Given the description of an element on the screen output the (x, y) to click on. 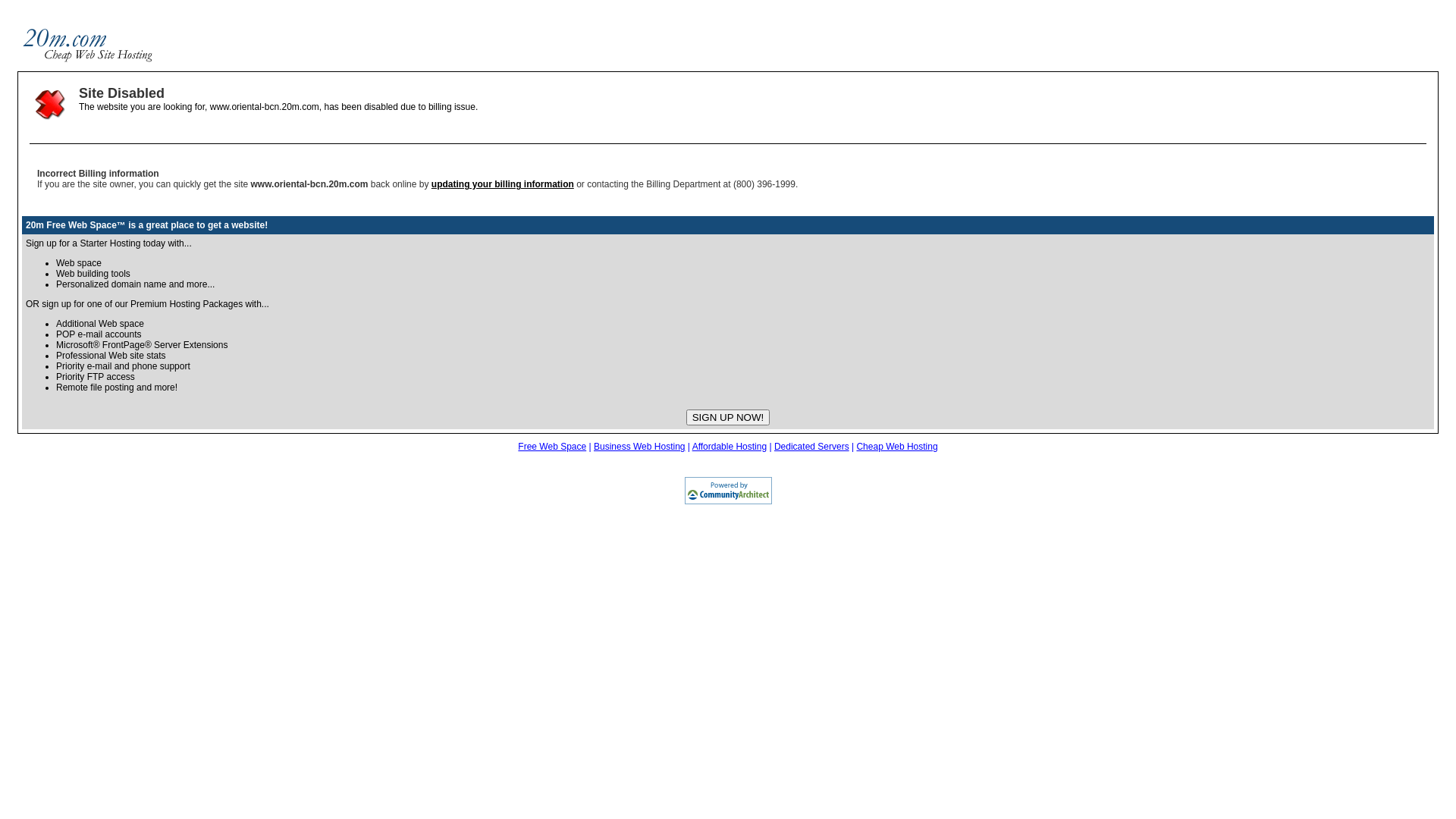
Dedicated Servers Element type: text (811, 446)
updating your billing information Element type: text (502, 183)
Business Web Hosting Element type: text (639, 446)
Affordable Hosting Element type: text (729, 446)
Cheap Web Hosting Element type: text (896, 446)
SIGN UP NOW! Element type: text (728, 417)
Free Web Space Element type: text (551, 446)
